Given the description of an element on the screen output the (x, y) to click on. 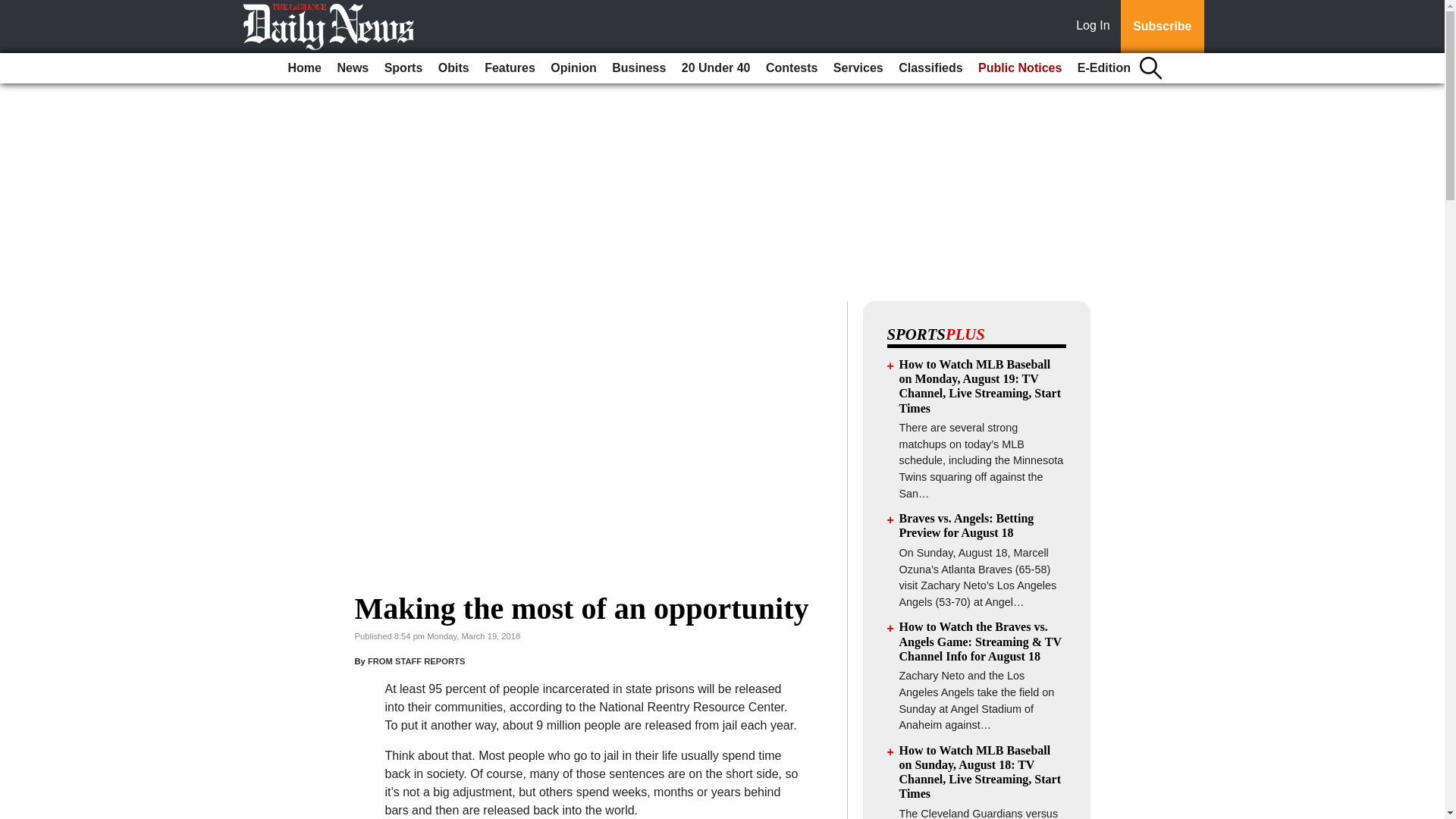
Home (304, 68)
Features (510, 68)
Go (13, 9)
Subscribe (1162, 26)
Public Notices (1019, 68)
20 Under 40 (716, 68)
Sports (403, 68)
E-Edition (1104, 68)
Log In (1095, 26)
